Given the description of an element on the screen output the (x, y) to click on. 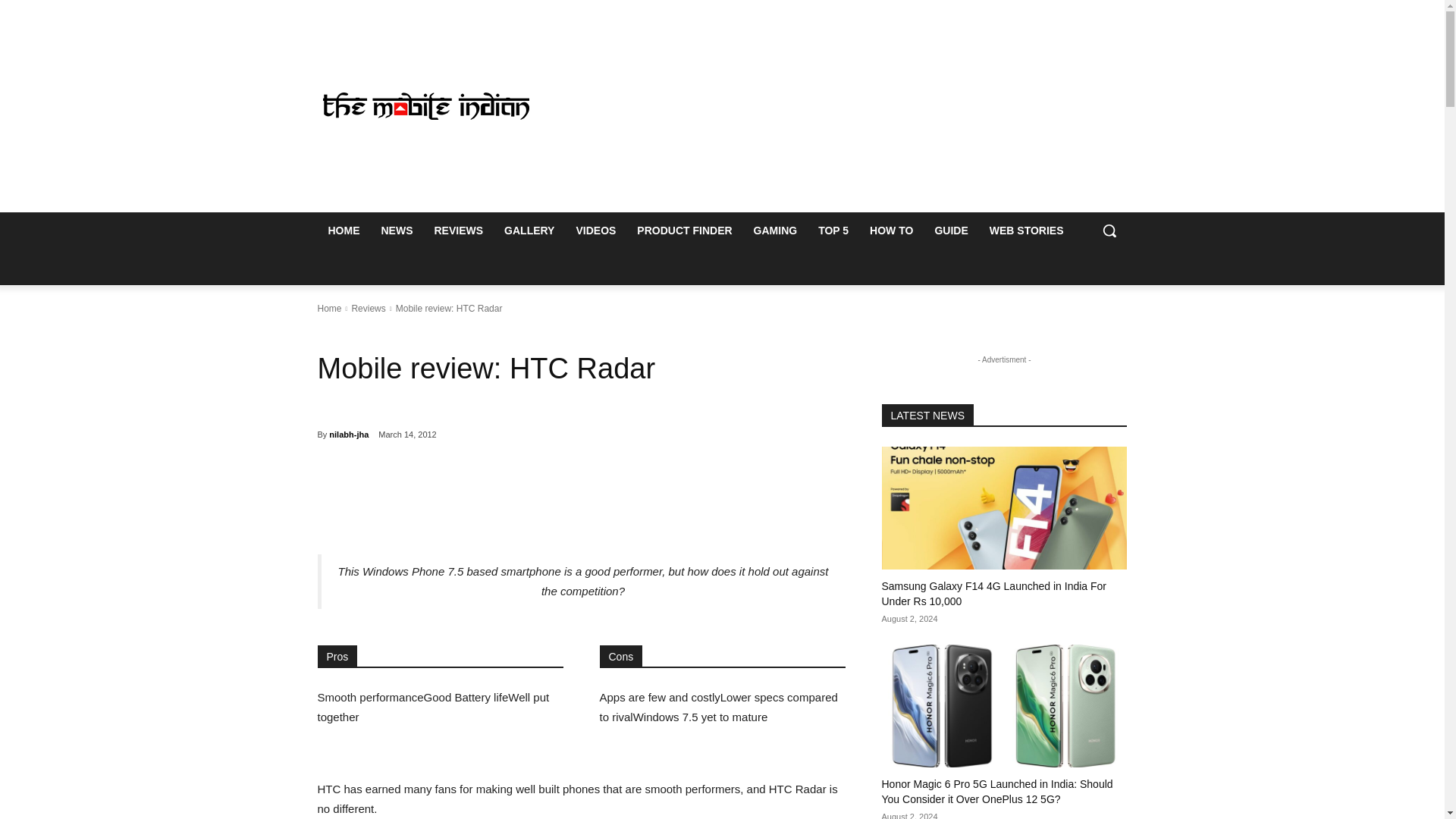
Advertisement (846, 106)
REVIEWS (458, 230)
View all posts in Reviews (367, 308)
The Mobile Indian (426, 106)
NEWS (396, 230)
GUIDE (950, 230)
Home (328, 308)
HOME (343, 230)
The Mobile Indian (425, 106)
GAMING (775, 230)
VIDEOS (595, 230)
WEB STORIES (1026, 230)
PRODUCT FINDER (684, 230)
TOP 5 (833, 230)
nilabh-jha (348, 434)
